Given the description of an element on the screen output the (x, y) to click on. 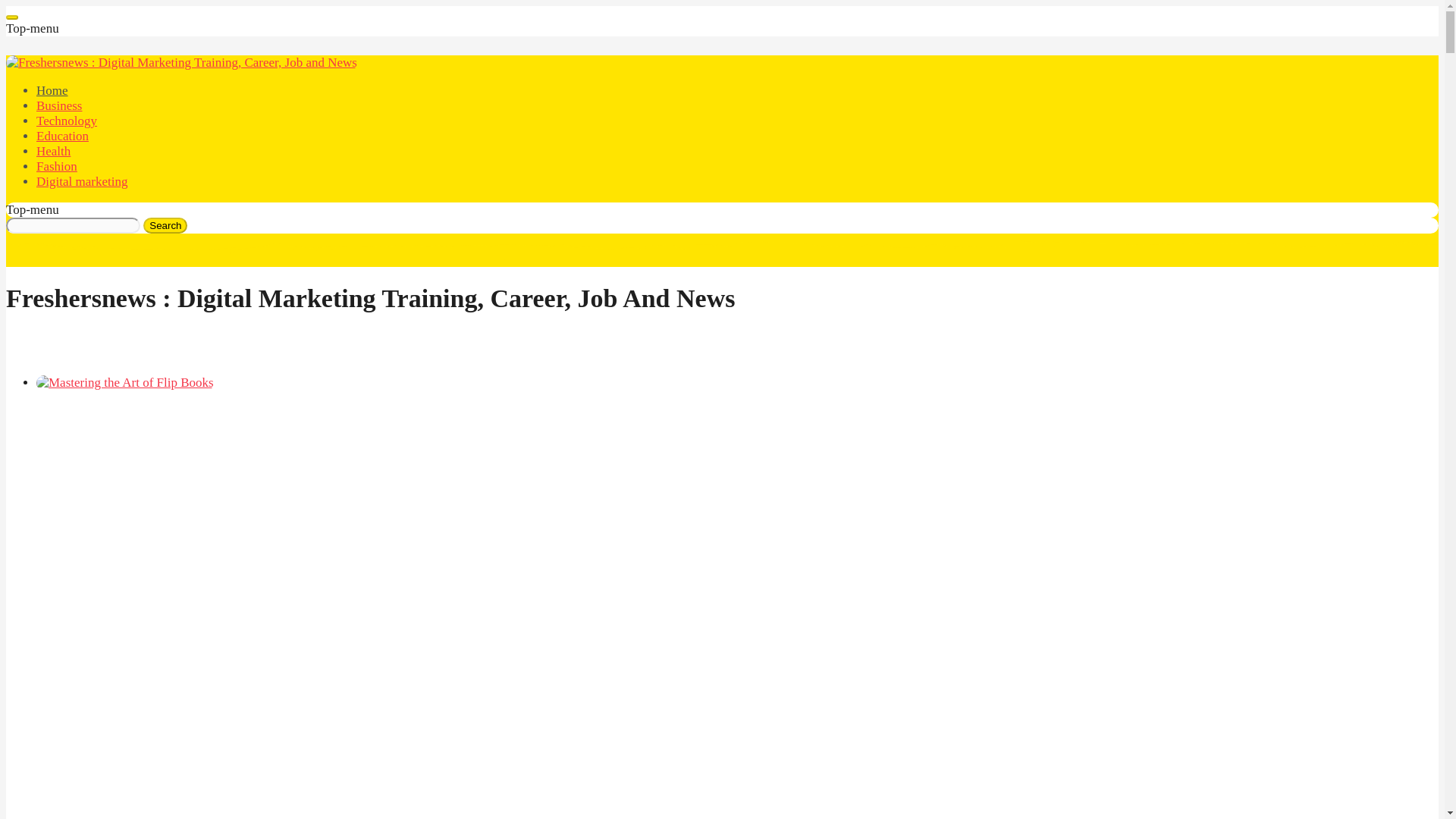
Education (62, 135)
Business (58, 105)
Home (52, 90)
Technology (66, 120)
Search (164, 225)
Health (52, 151)
Fashion (56, 165)
Digital marketing (82, 181)
